Given the description of an element on the screen output the (x, y) to click on. 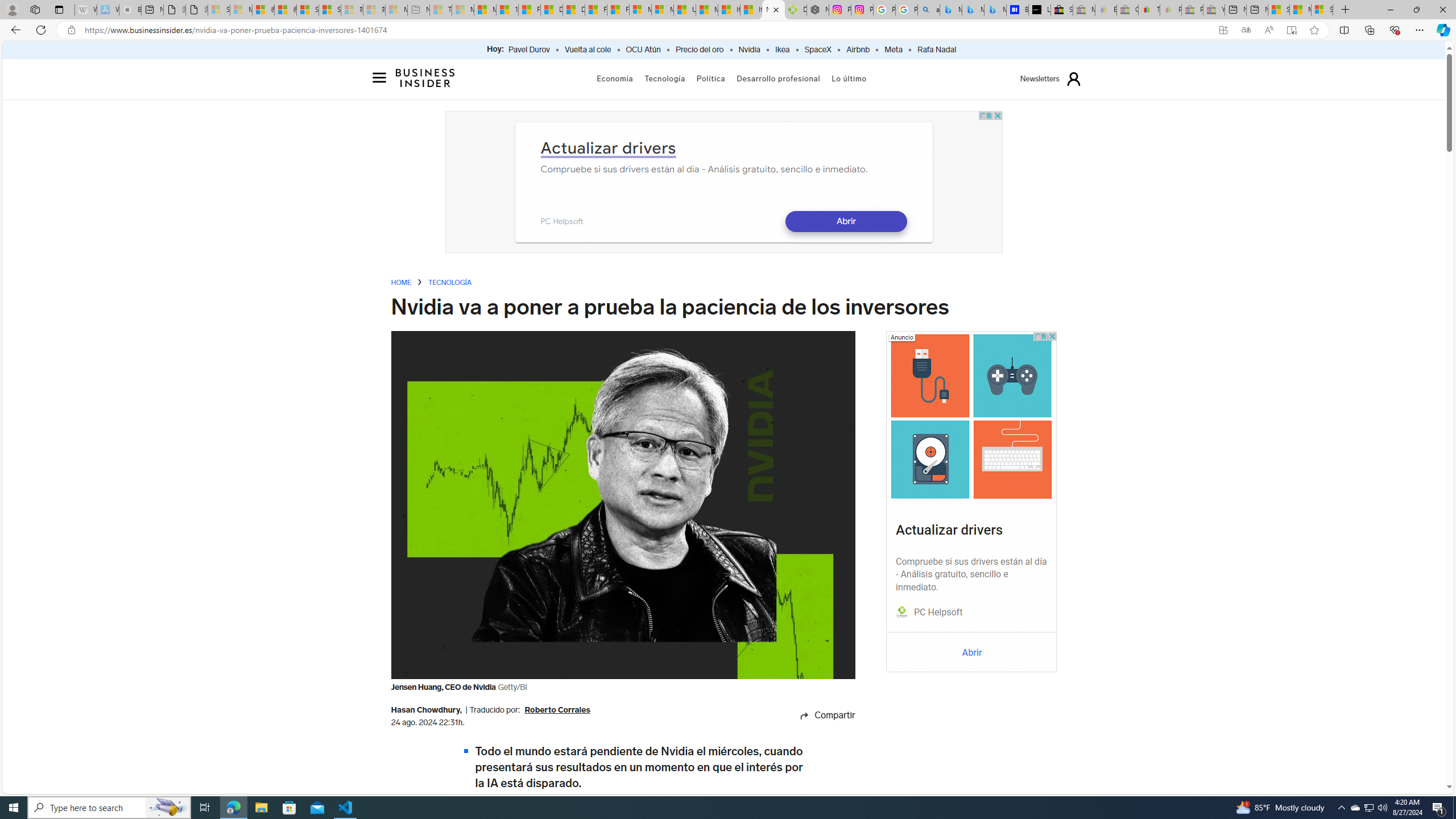
Drinking tea every day is proven to delay biological aging (573, 9)
Roberto Corrales (556, 711)
Show translate options (1245, 29)
Shanghai, China hourly forecast | Microsoft Weather (1278, 9)
Meta (893, 49)
Sign in to your Microsoft account (1322, 9)
Meta (892, 49)
Buy iPad - Apple - Sleeping (130, 9)
Foo BAR | Trusted Community Engagement and Contributions (618, 9)
Pavel Durov (528, 49)
